Given the description of an element on the screen output the (x, y) to click on. 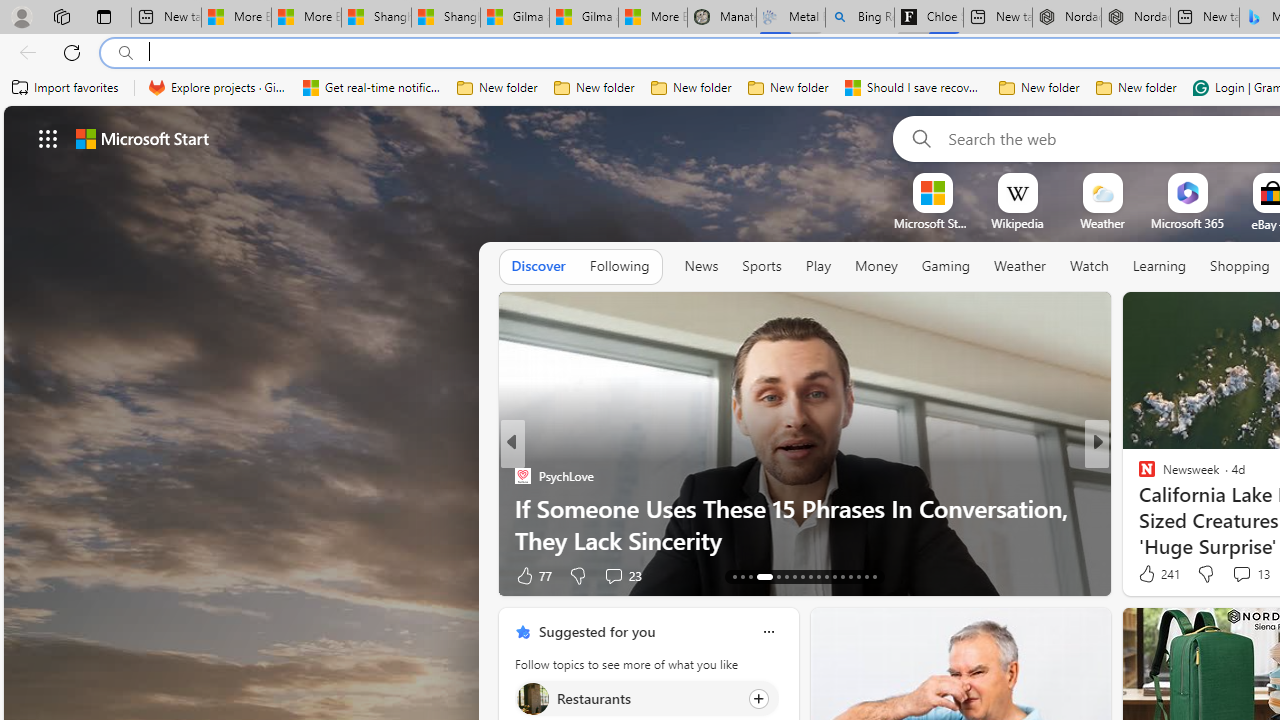
TODAY (1138, 475)
View comments 102 Comment (632, 574)
6 Like (1145, 574)
2 Like (1145, 574)
AutomationID: tab-15 (750, 576)
AutomationID: tab-29 (874, 576)
AutomationID: tab-25 (842, 576)
Import favorites (65, 88)
Restaurants (532, 697)
